Given the description of an element on the screen output the (x, y) to click on. 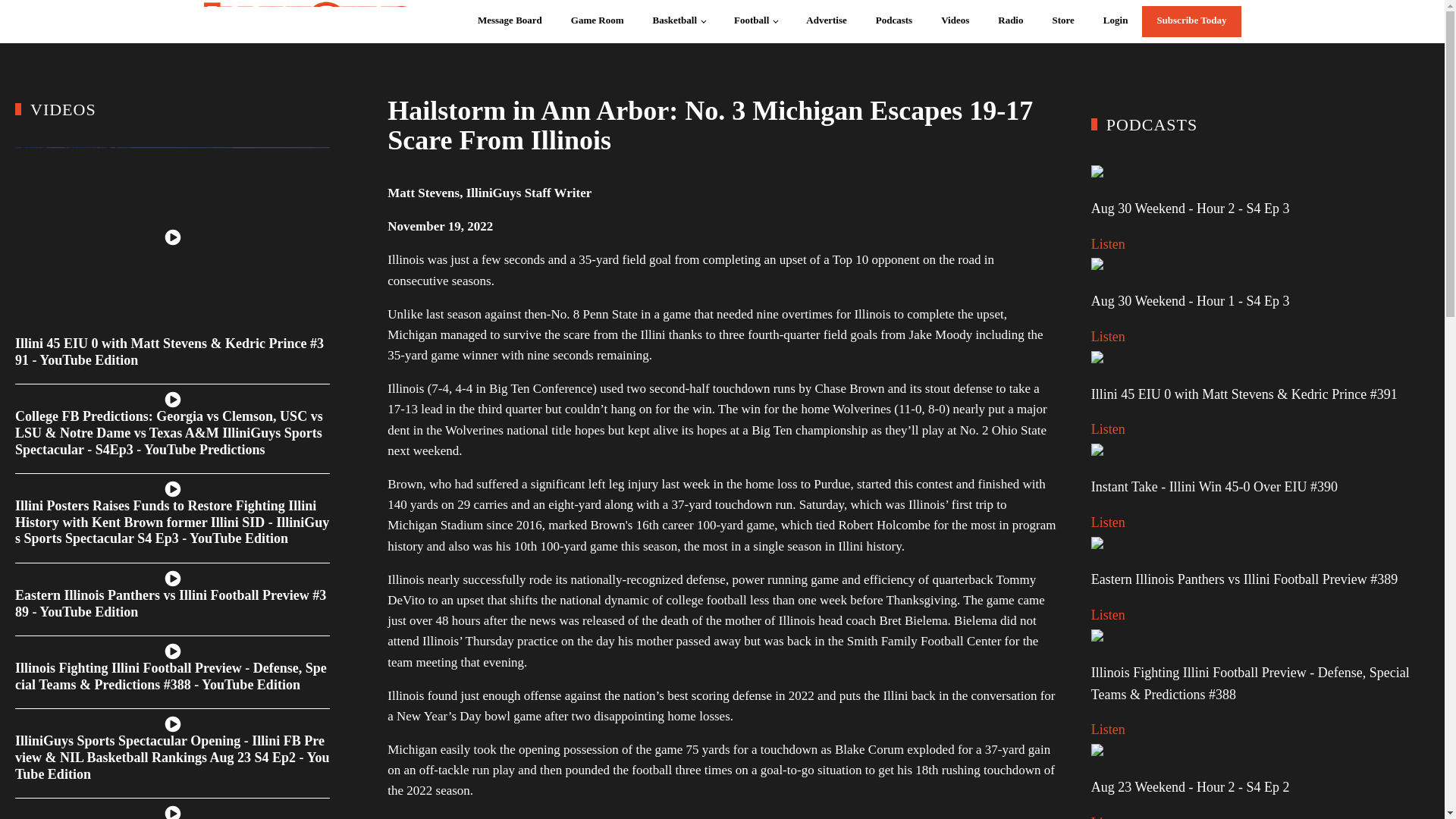
Podcasts (893, 20)
Football (755, 20)
Game Room (596, 20)
Videos (954, 20)
Login (1115, 20)
Advertise (825, 20)
Radio (1010, 20)
Subscribe Today (1191, 20)
Store (1062, 20)
